Given the description of an element on the screen output the (x, y) to click on. 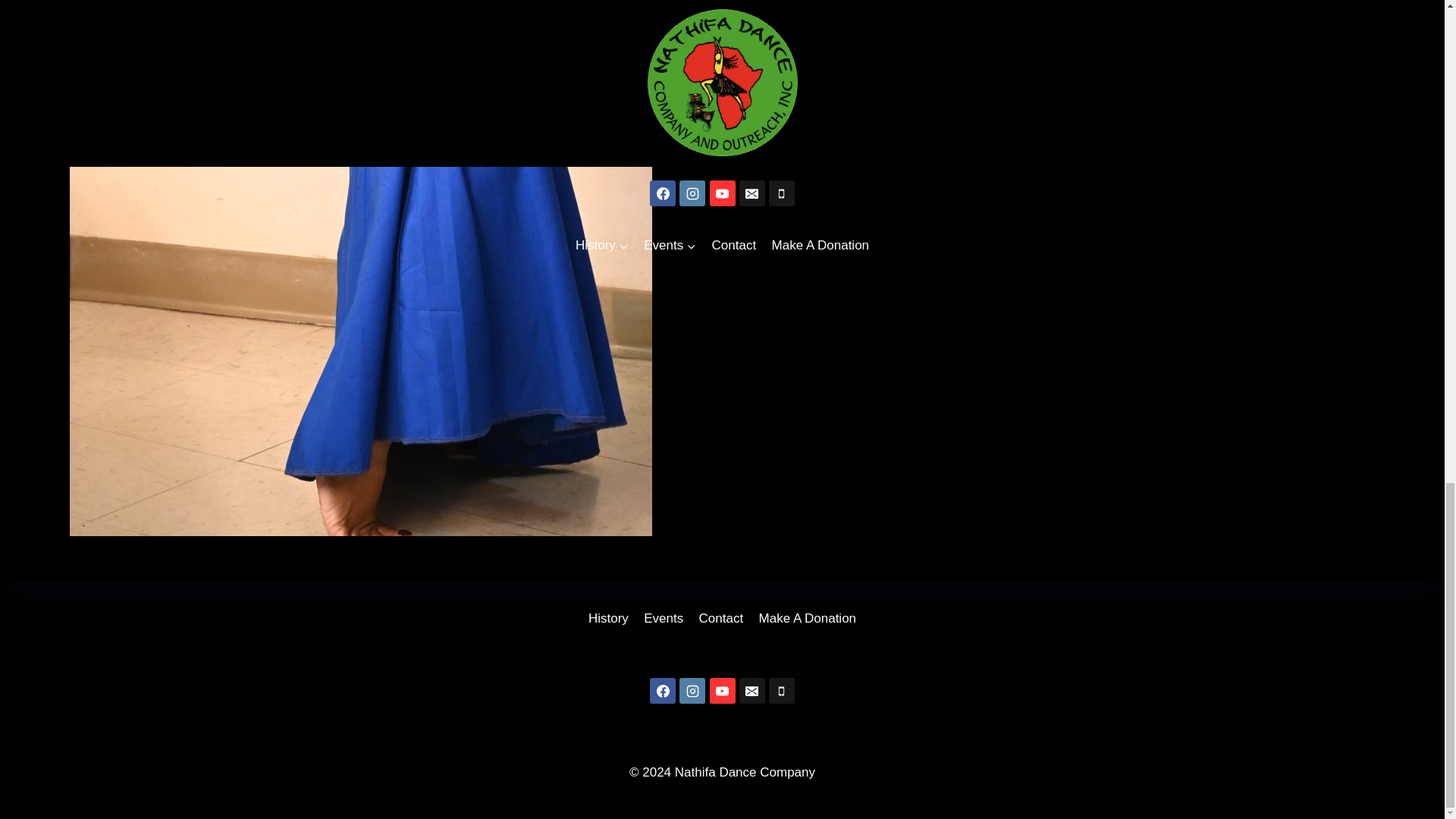
History (608, 618)
Contact (720, 618)
Events (663, 618)
Make A Donation (807, 618)
